Given the description of an element on the screen output the (x, y) to click on. 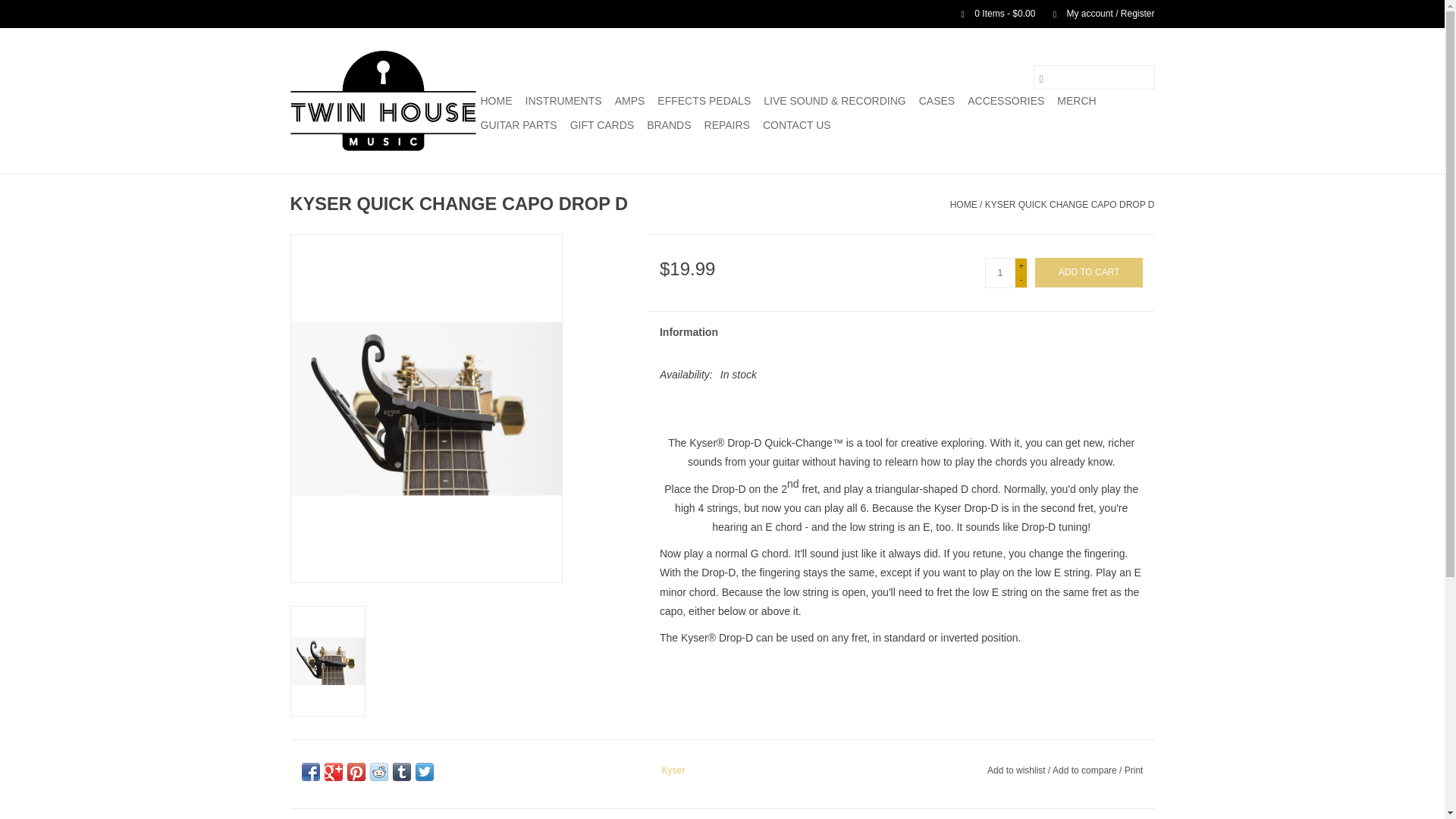
AMPS (629, 99)
HOME (496, 99)
Cart (992, 13)
Instruments (562, 99)
1 (999, 272)
Twin House Music (382, 100)
My account (1096, 13)
INSTRUMENTS (562, 99)
